Given the description of an element on the screen output the (x, y) to click on. 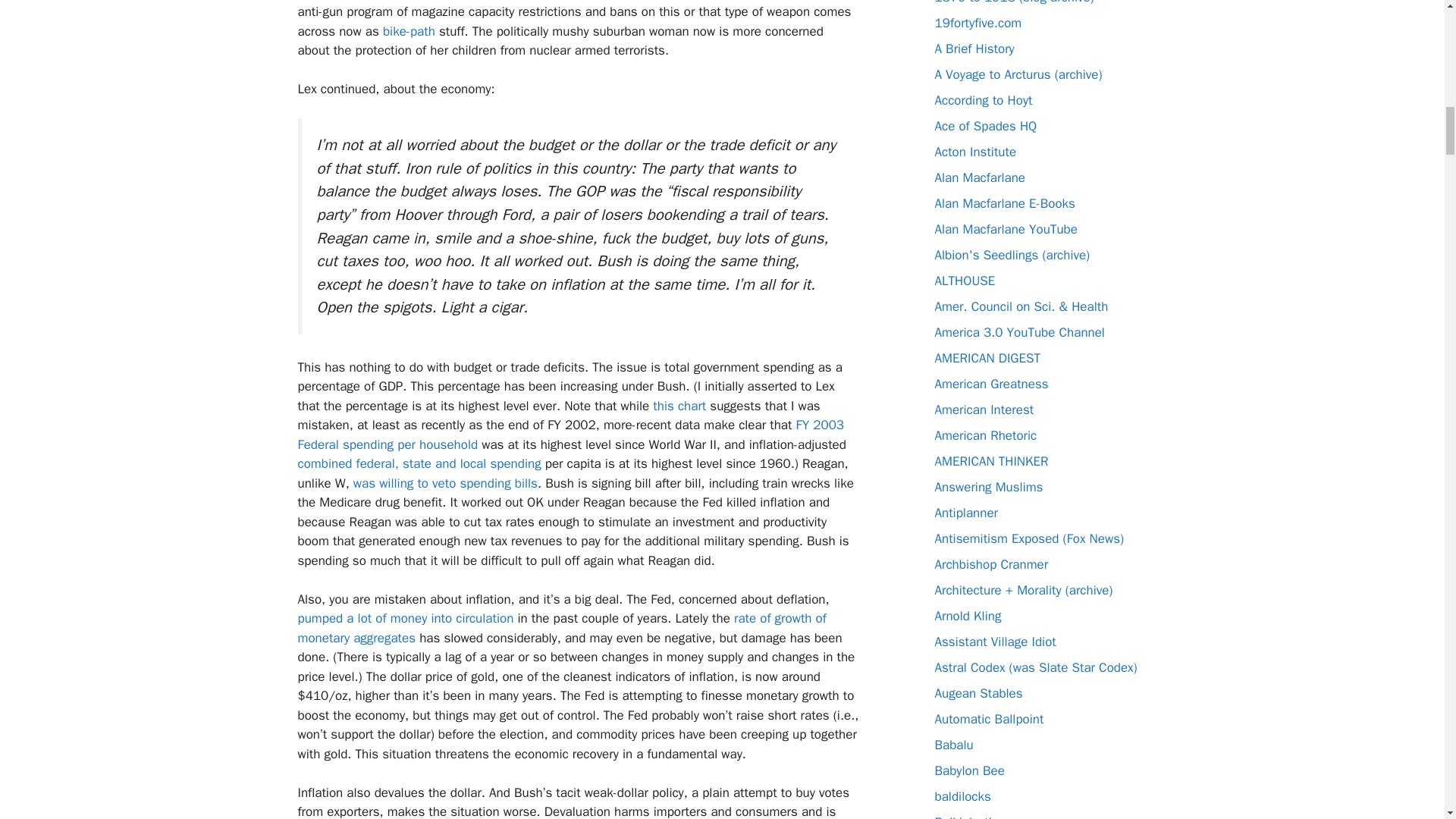
pumped a lot of money into circulation (405, 618)
combined federal, state and local spending (418, 463)
this chart (679, 406)
rate of growth of monetary aggregates (561, 628)
Walter Russell Mead (983, 409)
was willing to veto spending bills (445, 483)
bike-path (408, 31)
FY 2003 Federal spending per household (570, 434)
